Given the description of an element on the screen output the (x, y) to click on. 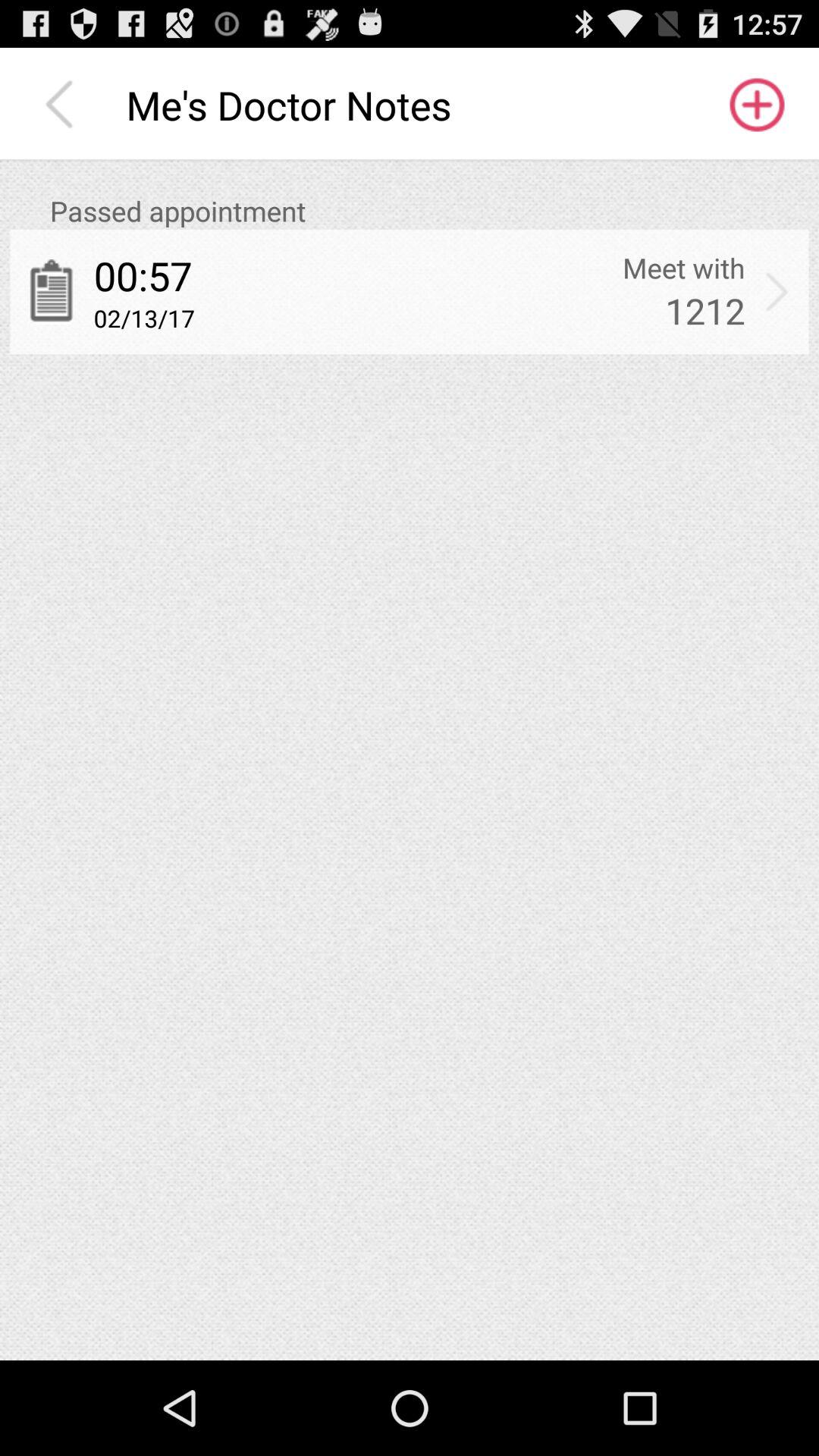
open item below the passed appointment app (683, 267)
